Given the description of an element on the screen output the (x, y) to click on. 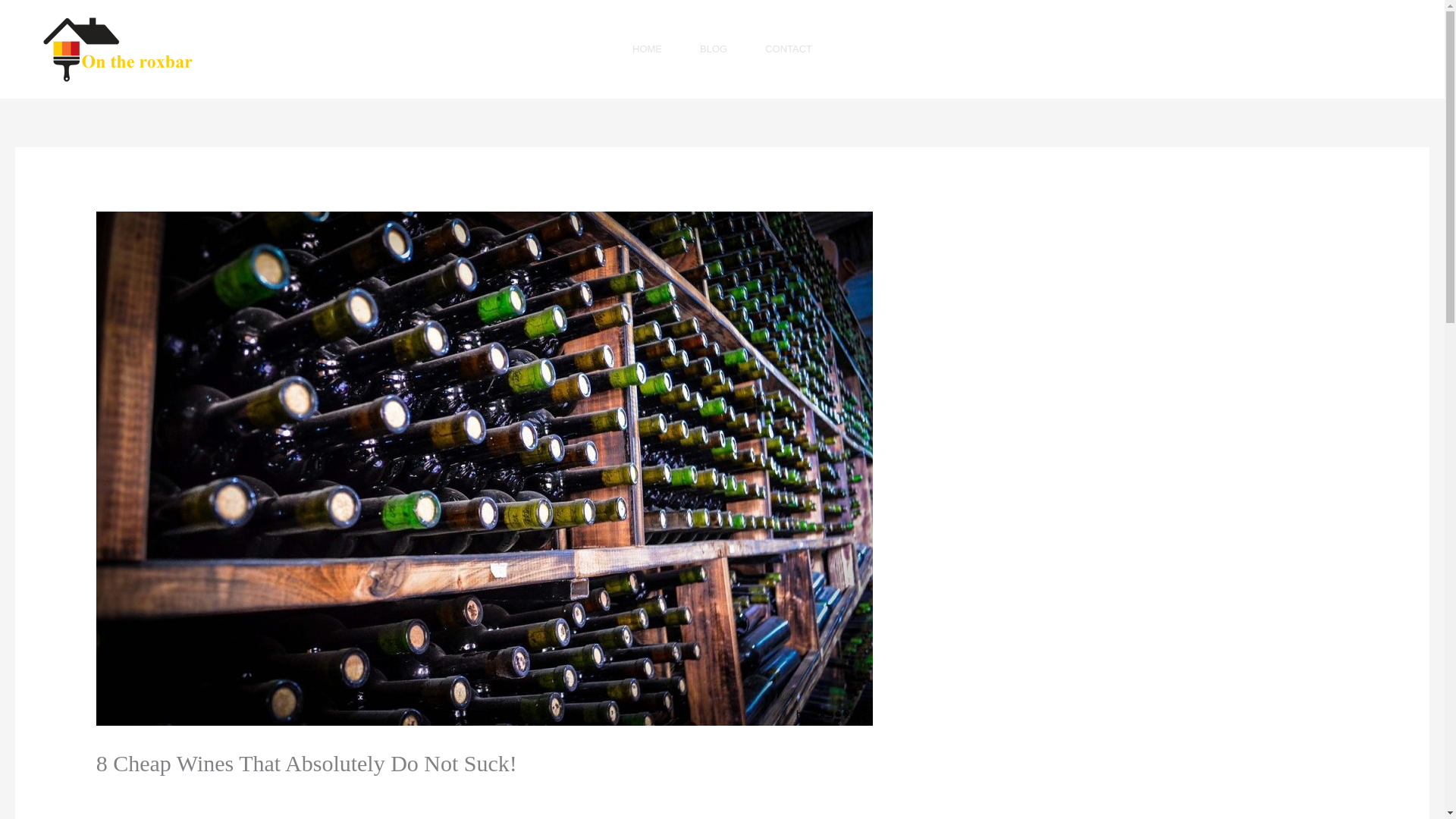
ontheroxbar (343, 793)
CONTACT US (1355, 48)
CONTACT (788, 48)
Uncategorized (244, 793)
Leave a Comment (145, 793)
View all posts by ontheroxbar (343, 793)
